Given the description of an element on the screen output the (x, y) to click on. 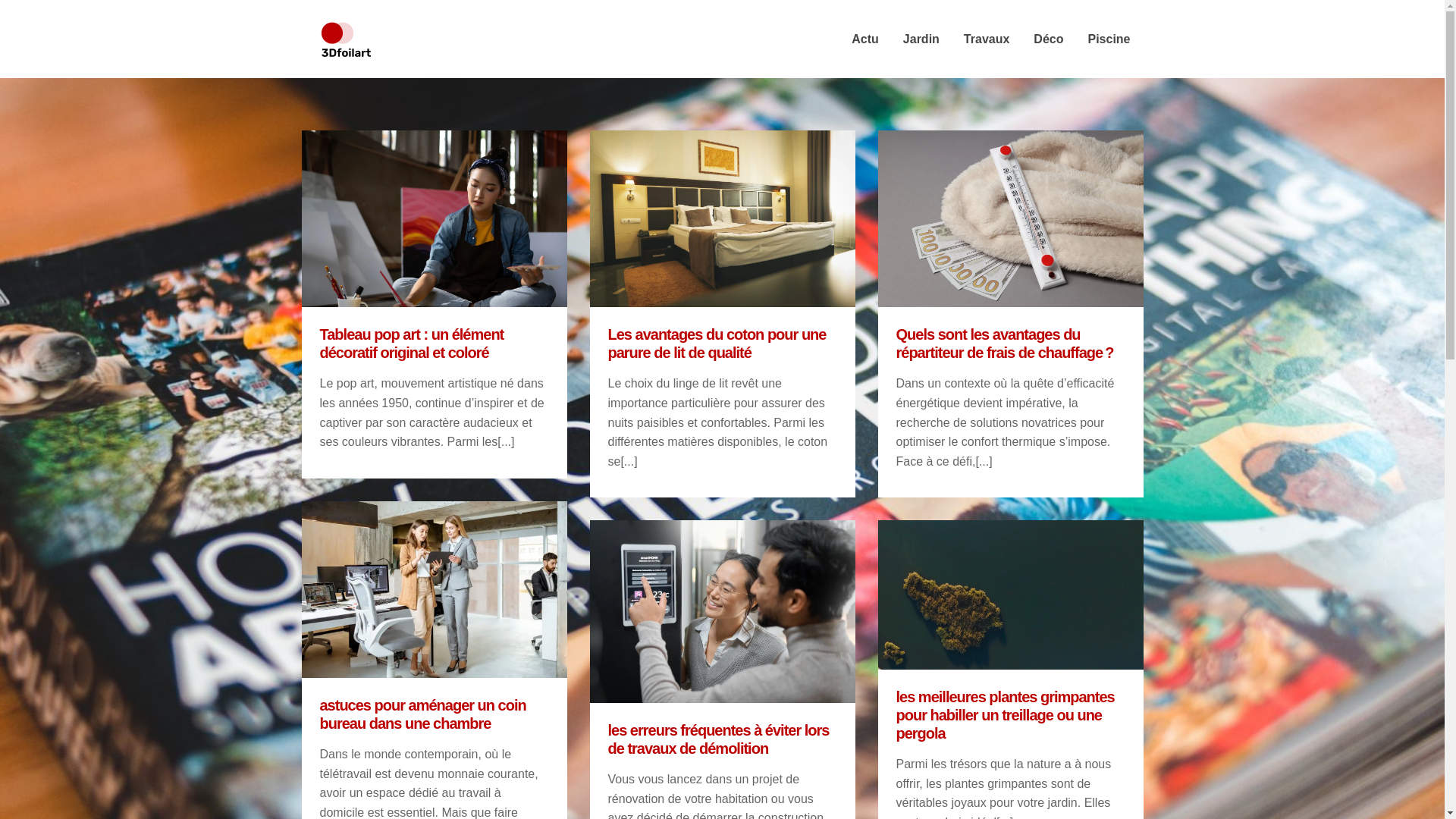
Jardin Element type: text (921, 38)
Travaux Element type: text (986, 38)
Actu Element type: text (865, 38)
Piscine Element type: text (1108, 38)
